Given the description of an element on the screen output the (x, y) to click on. 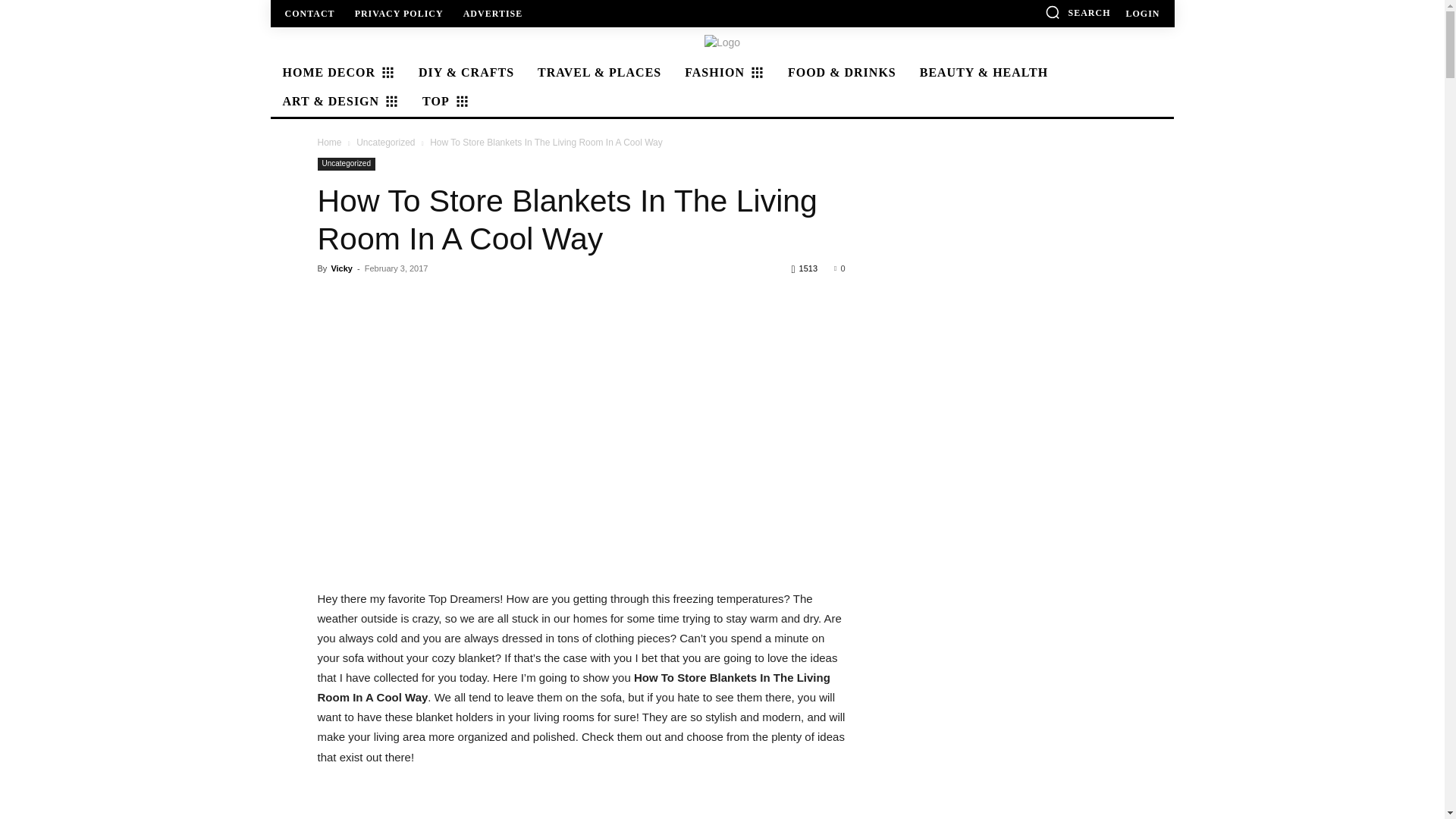
View all posts in Uncategorized (385, 142)
